Given the description of an element on the screen output the (x, y) to click on. 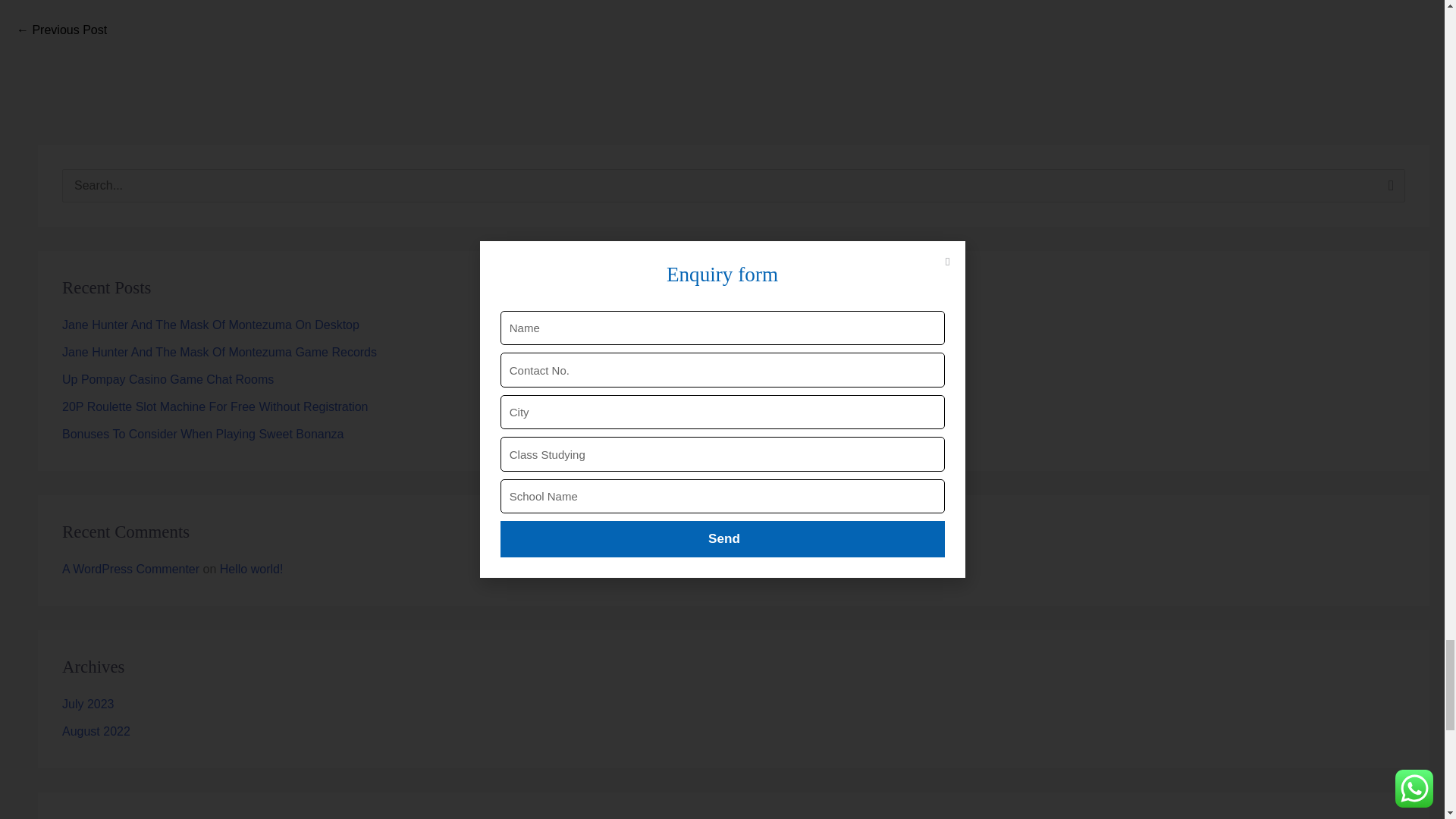
Search (1388, 189)
Hello world! (61, 31)
Search (1388, 189)
